Given the description of an element on the screen output the (x, y) to click on. 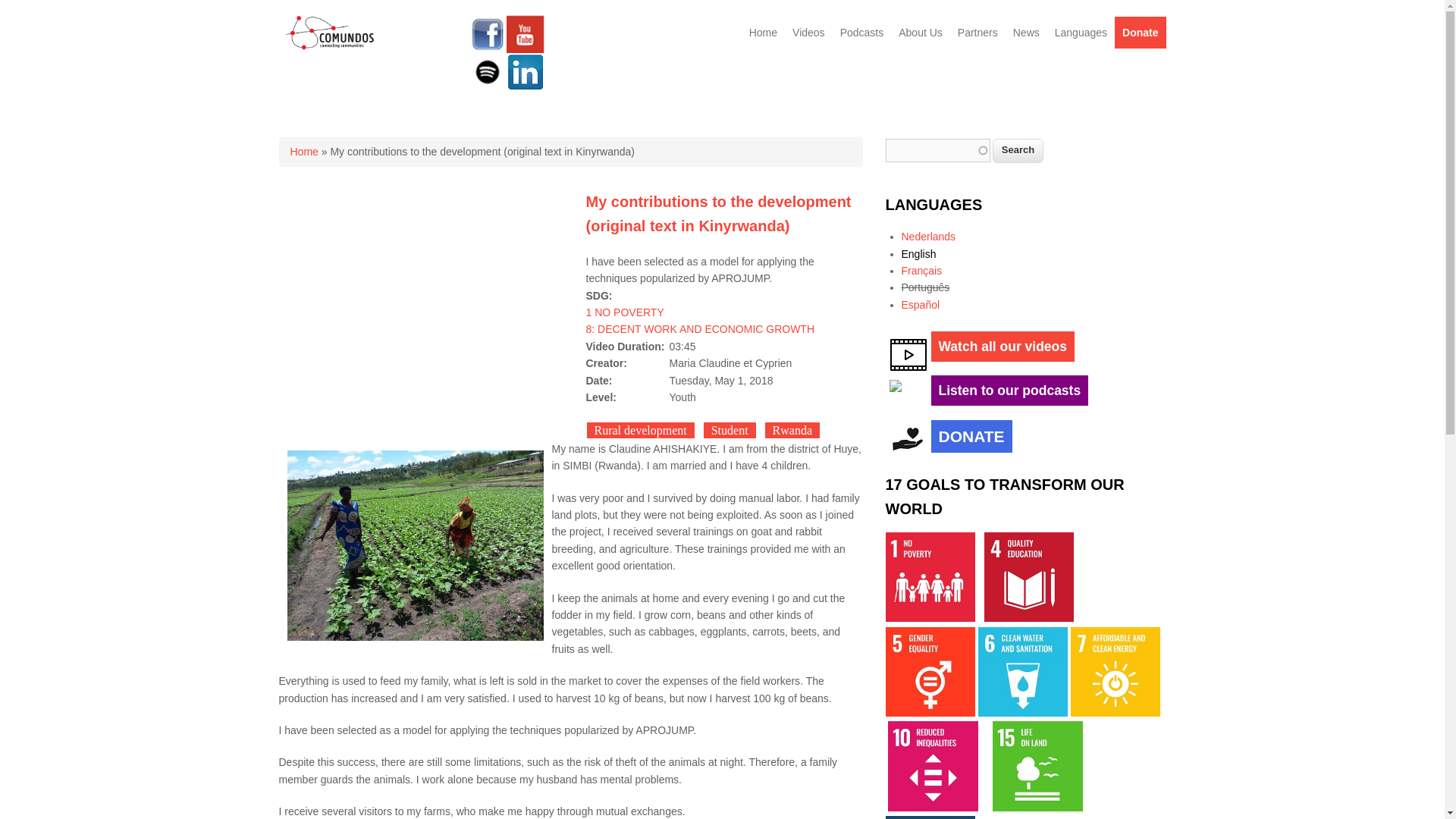
Home (762, 32)
8: DECENT WORK AND ECONOMIC GROWTH (699, 328)
Videos (808, 32)
Partners (978, 32)
Home (303, 151)
Home (330, 46)
Donate (1140, 32)
Student (730, 429)
Search (1017, 150)
News (1026, 32)
Linkedin Comundos (525, 87)
Languages (1080, 32)
1 NO POVERTY (624, 312)
Podcasts (861, 32)
Rural development (639, 429)
